Given the description of an element on the screen output the (x, y) to click on. 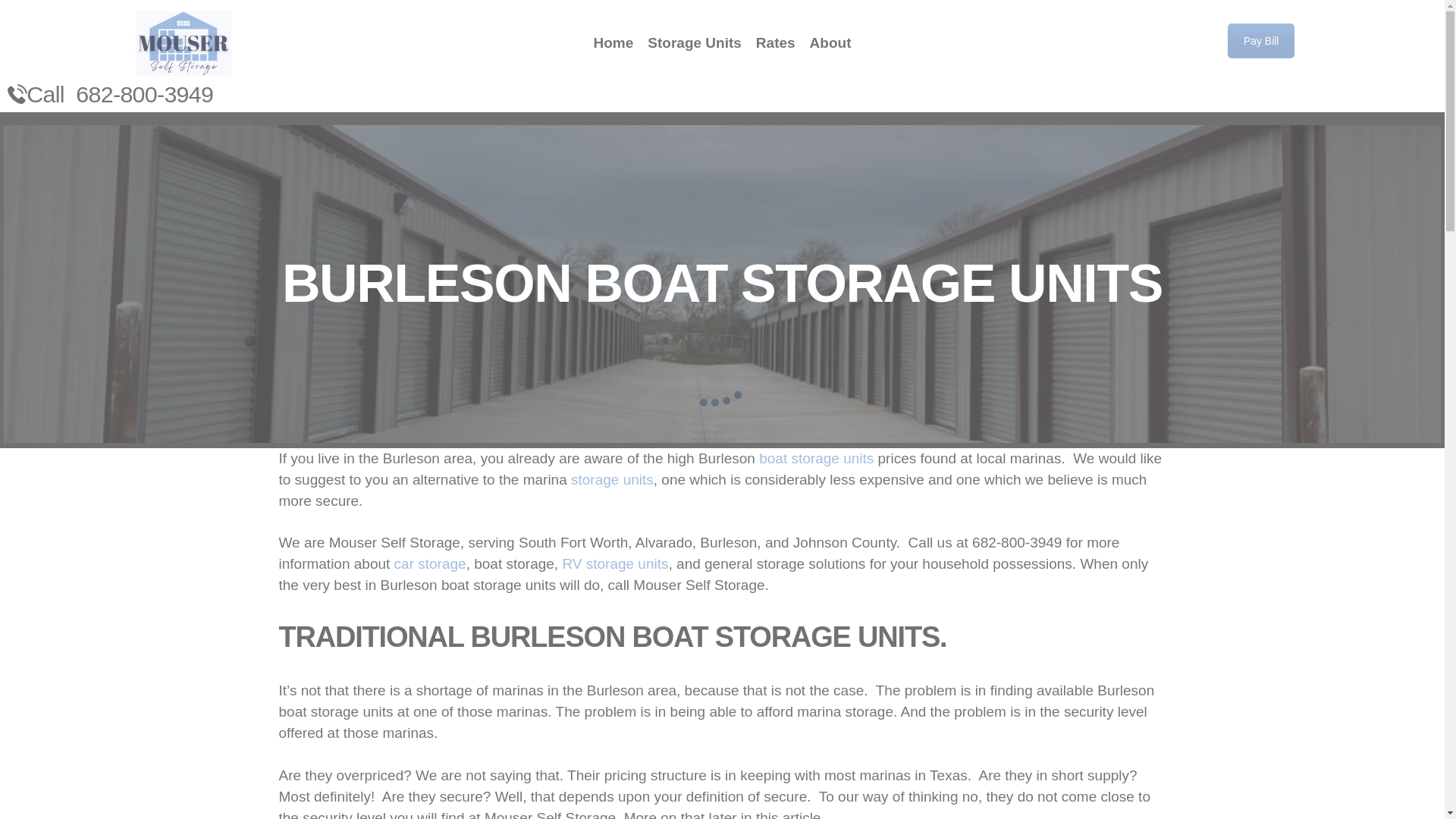
About (830, 43)
Storage Units (694, 43)
Rates (775, 43)
Pay Bill (1261, 40)
Home (613, 43)
Call  682-800-3949 (119, 94)
